Given the description of an element on the screen output the (x, y) to click on. 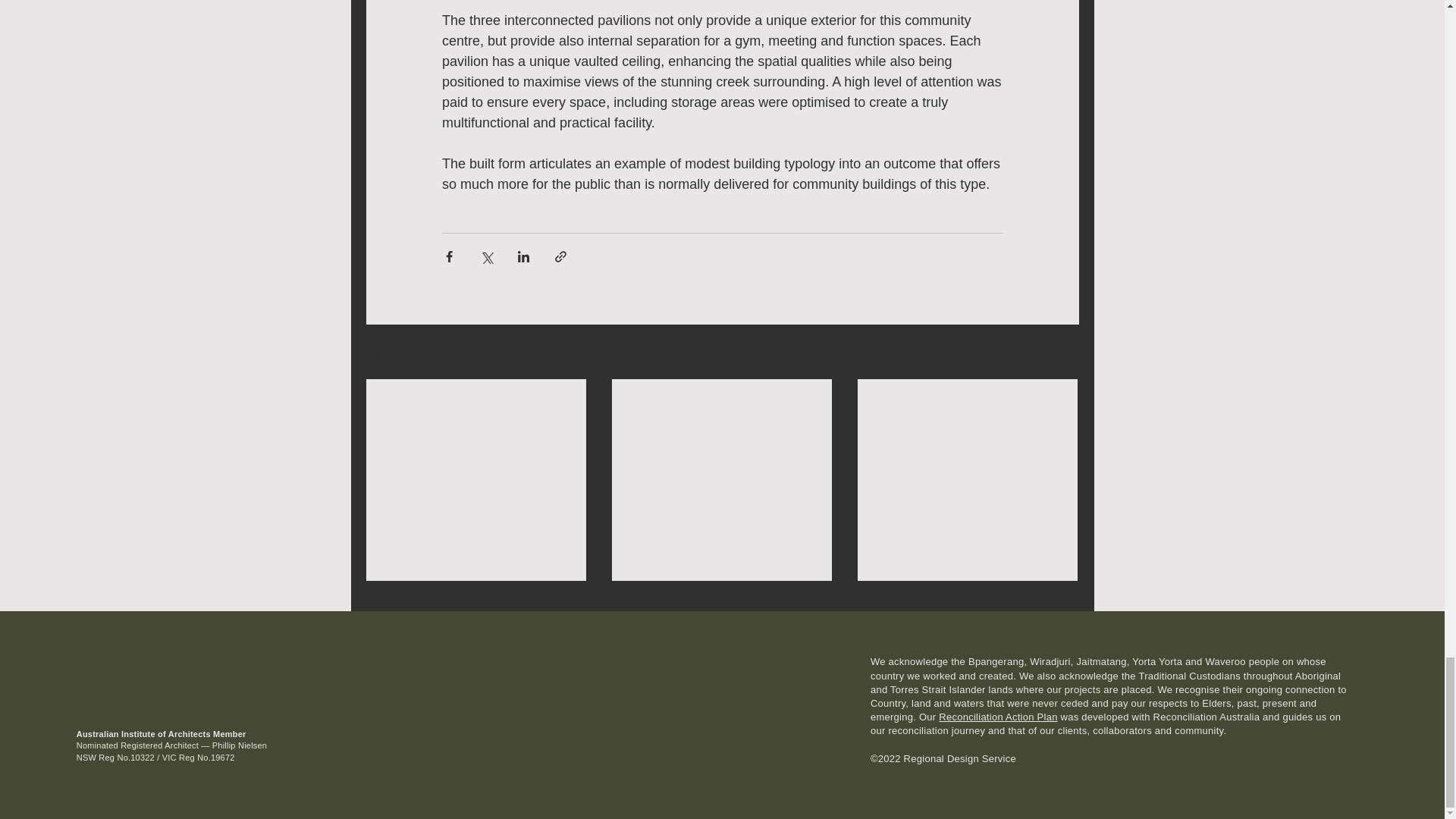
PLAN RAND recognised in Architeam Awards (720, 536)
What's your story? (475, 528)
See All (1061, 352)
Reconciliation Action Plan (998, 716)
